Given the description of an element on the screen output the (x, y) to click on. 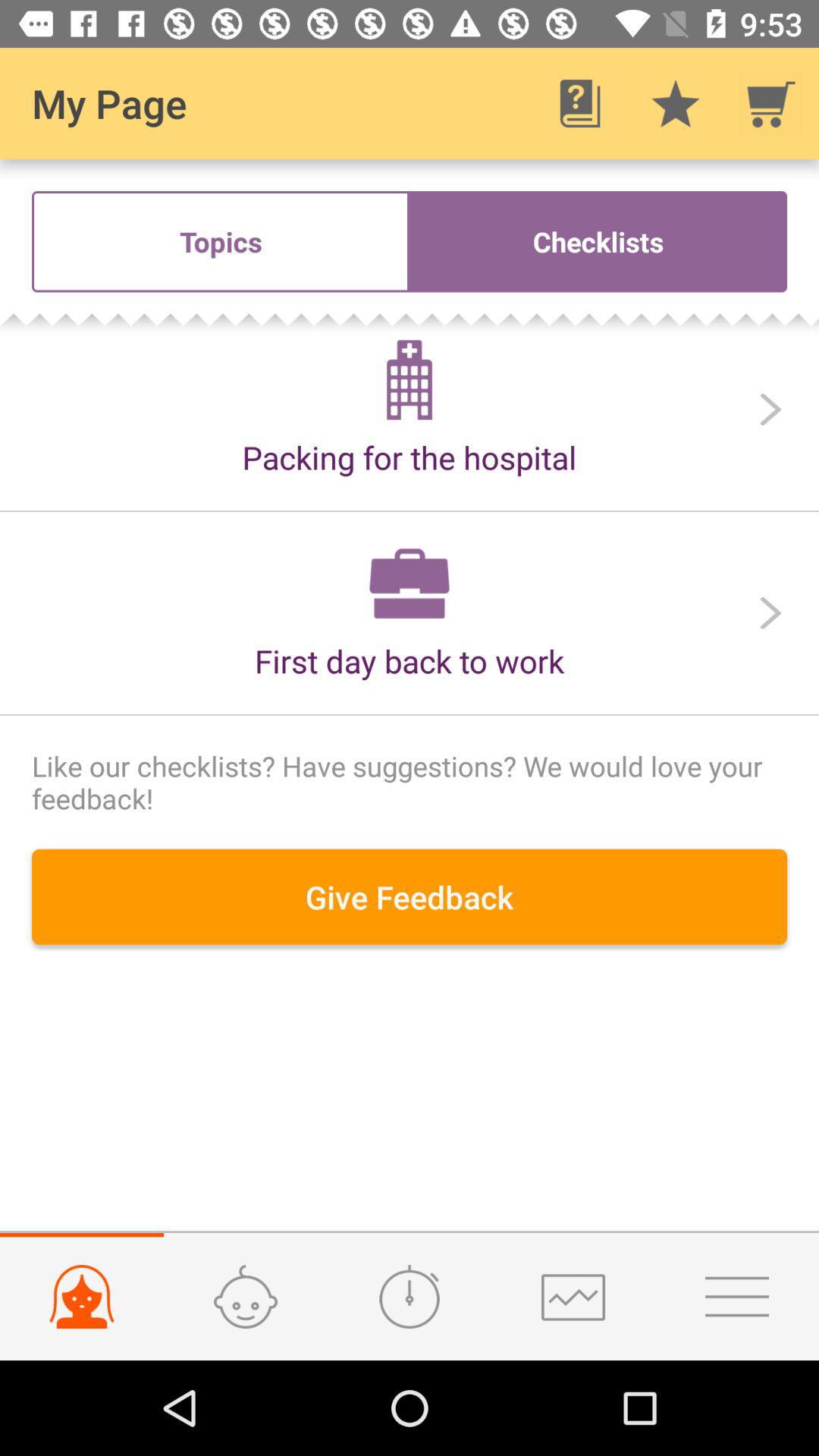
press give feedback (409, 896)
